Given the description of an element on the screen output the (x, y) to click on. 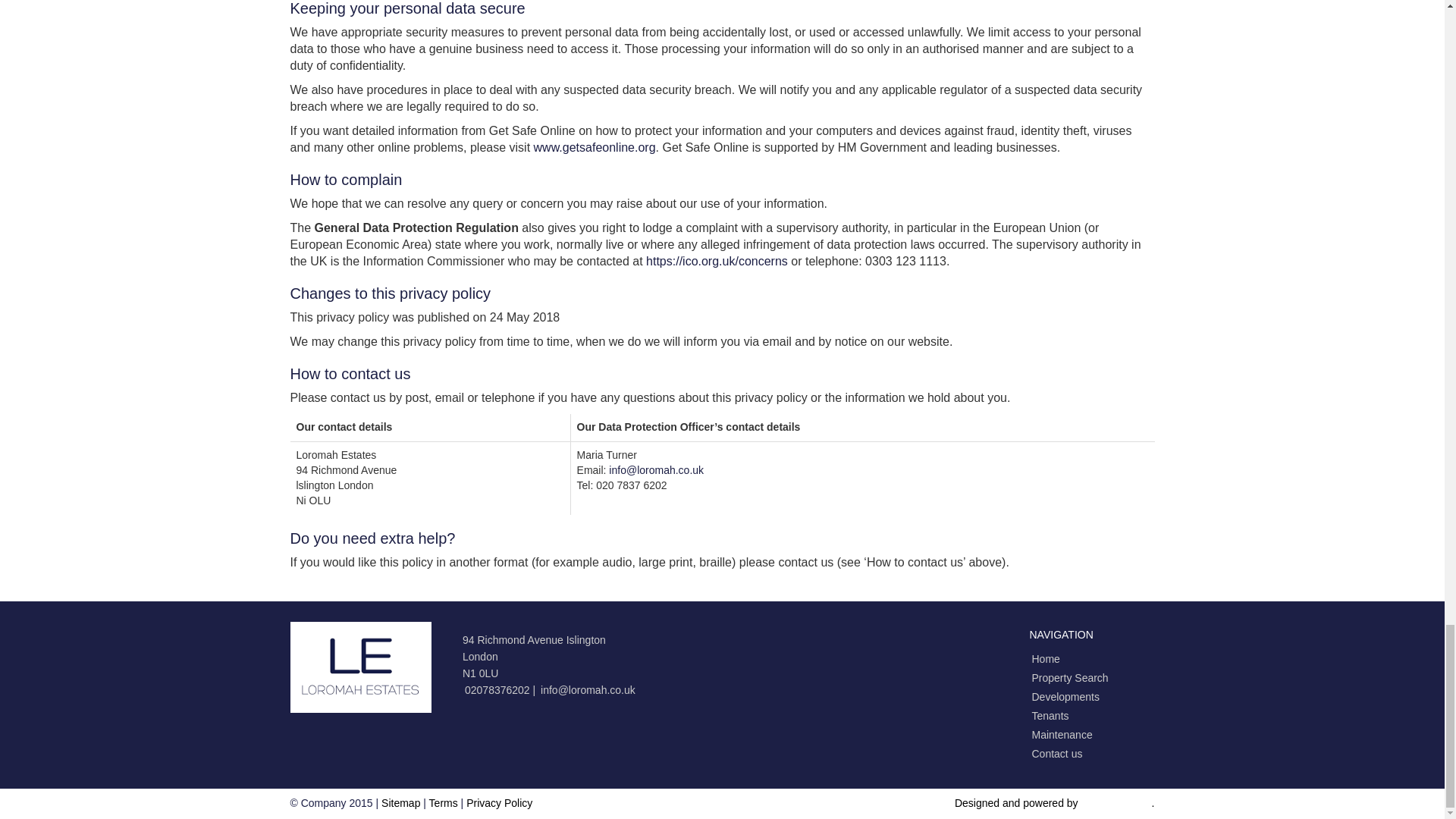
Designed and powered by . (1054, 802)
Sitemap (400, 802)
Terms (443, 802)
www.getsafeonline.org (595, 146)
Home (1044, 658)
Tenants (1049, 715)
Property Search (1069, 677)
Privacy Policy (498, 802)
Contact us (1055, 753)
Developments (1064, 696)
Maintenance (1061, 734)
